Given the description of an element on the screen output the (x, y) to click on. 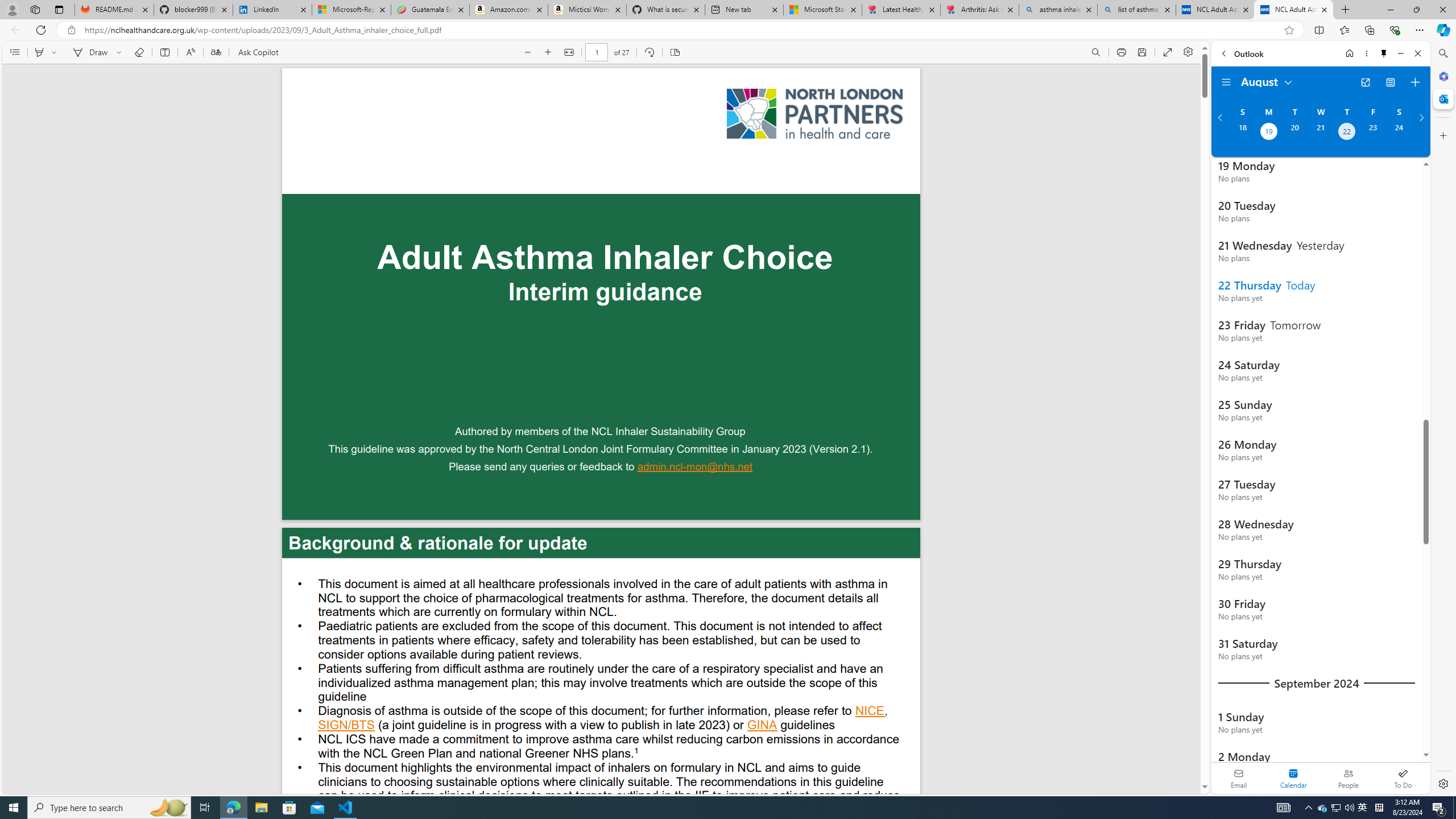
Home (1348, 53)
Unpin side pane (1383, 53)
New tab (743, 9)
Rotate (Ctrl+]) (649, 52)
Tuesday, August 20, 2024.  (1294, 132)
Monday, August 19, 2024. Date selected.  (1268, 132)
Wednesday, August 21, 2024.  (1320, 132)
